Given the description of an element on the screen output the (x, y) to click on. 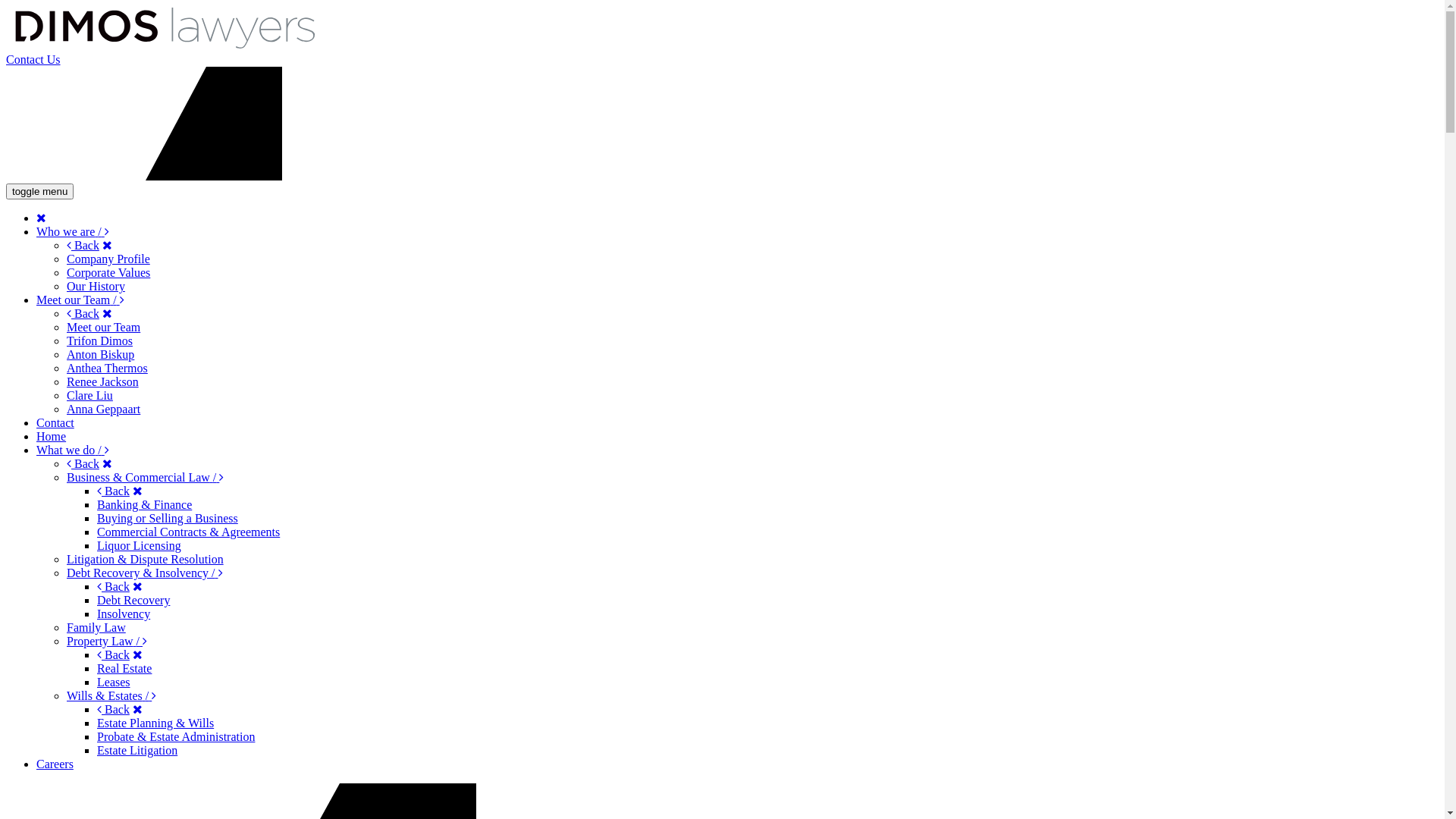
Corporate Values Element type: text (108, 272)
Business & Commercial Law / Element type: text (144, 476)
Back Element type: text (113, 708)
Back Element type: text (113, 490)
Debt Recovery & Insolvency / Element type: text (144, 572)
Contact Us Element type: text (33, 59)
Careers Element type: text (54, 763)
Family Law Element type: text (95, 627)
Estate Planning & Wills Element type: text (155, 722)
Home Element type: text (50, 435)
Meet our Team Element type: text (103, 326)
toggle menu Element type: text (39, 191)
Back Element type: text (82, 244)
Renee Jackson Element type: text (102, 381)
Back Element type: text (113, 654)
Clare Liu Element type: text (89, 395)
Leases Element type: text (113, 681)
Anna Geppaart Element type: text (103, 408)
Anton Biskup Element type: text (100, 354)
Insolvency Element type: text (123, 613)
Contact Element type: text (55, 422)
Trifon Dimos Element type: text (99, 340)
Meet our Team / Element type: text (80, 299)
Debt Recovery Element type: text (133, 599)
Property Law / Element type: text (106, 640)
Our History Element type: text (95, 285)
Probate & Estate Administration Element type: text (175, 736)
Company Profile Element type: text (108, 258)
Liquor Licensing Element type: text (139, 545)
What we do / Element type: text (72, 449)
Anthea Thermos Element type: text (106, 367)
Buying or Selling a Business Element type: text (167, 517)
Estate Litigation Element type: text (137, 749)
Back Element type: text (82, 313)
Back Element type: text (113, 586)
Wills & Estates / Element type: text (111, 695)
Commercial Contracts & Agreements Element type: text (188, 531)
Real Estate Element type: text (124, 668)
Back Element type: text (82, 463)
Who we are / Element type: text (72, 231)
Banking & Finance Element type: text (144, 504)
Litigation & Dispute Resolution Element type: text (144, 558)
